Given the description of an element on the screen output the (x, y) to click on. 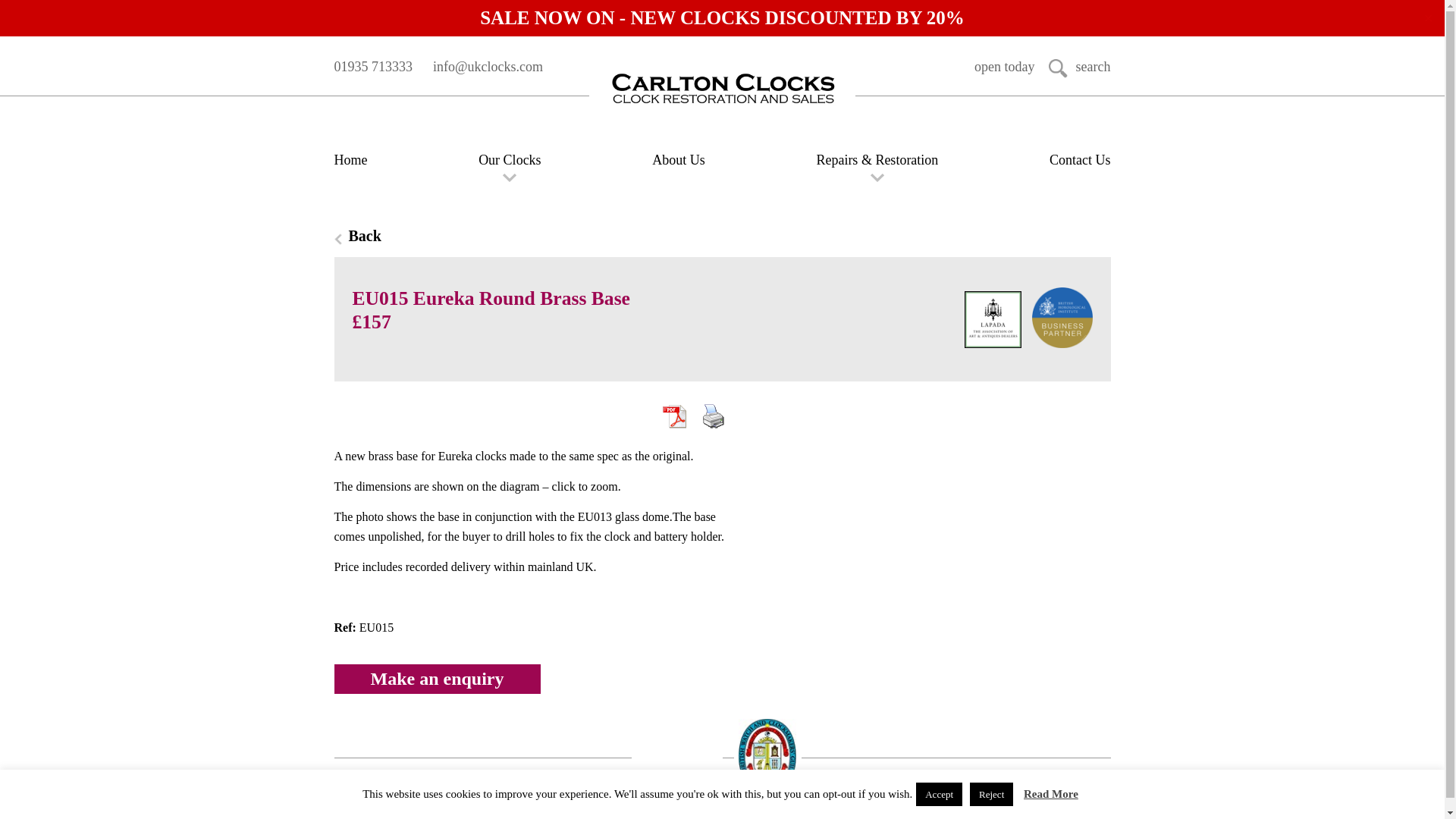
Our Clocks (510, 159)
01935 713333 (372, 66)
Back (721, 235)
open today (1003, 66)
Read More (1050, 793)
Reject (991, 793)
Logo (722, 89)
Home (349, 159)
Contact Us (1079, 159)
Accept (938, 793)
Make an enquiry (436, 678)
About Us (678, 159)
Print Content (713, 416)
Download PDF (674, 416)
